Given the description of an element on the screen output the (x, y) to click on. 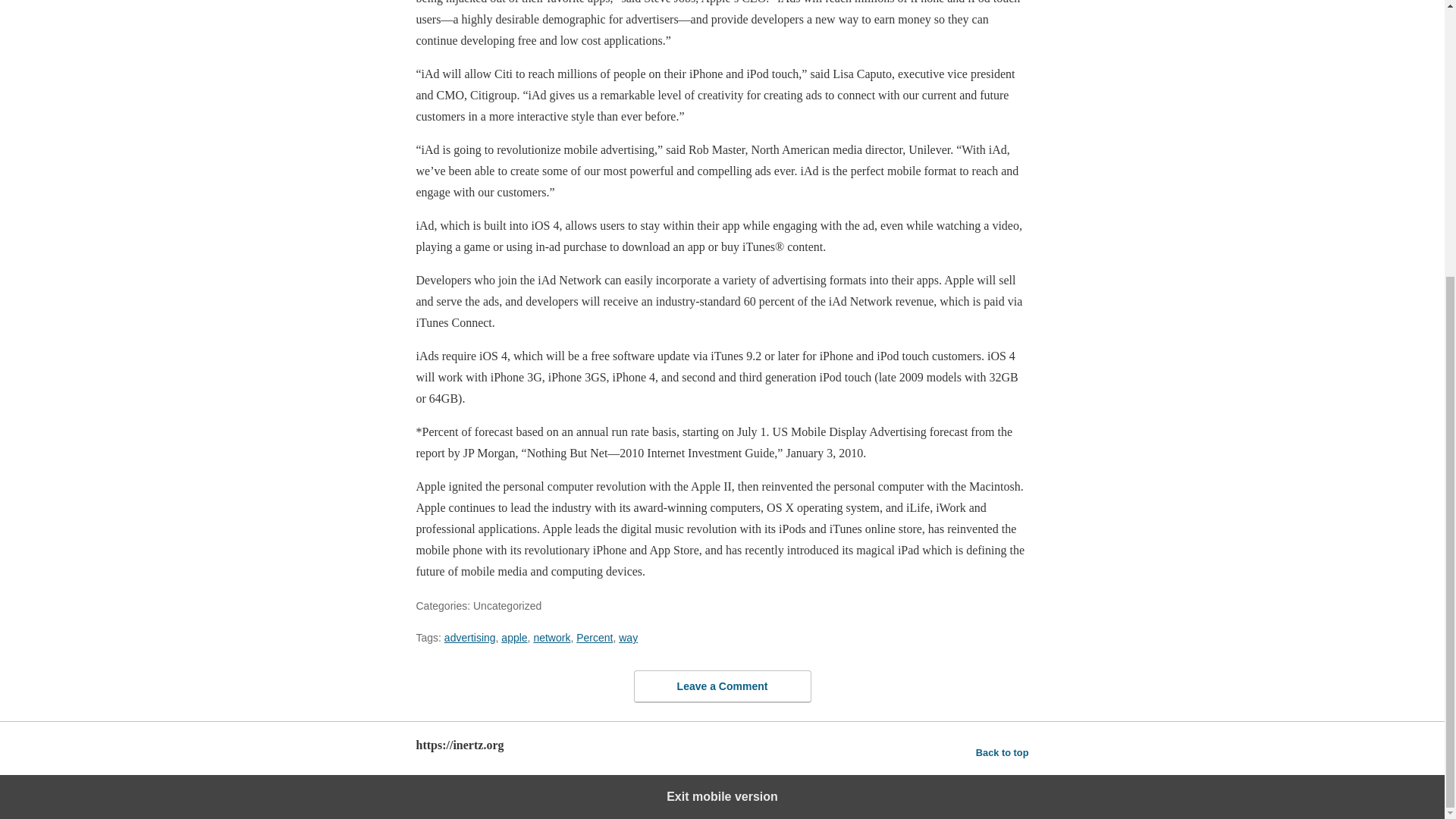
Leave a Comment (721, 686)
Percent (594, 637)
apple (513, 637)
advertising (470, 637)
way (627, 637)
network (551, 637)
Back to top (1002, 752)
